Given the description of an element on the screen output the (x, y) to click on. 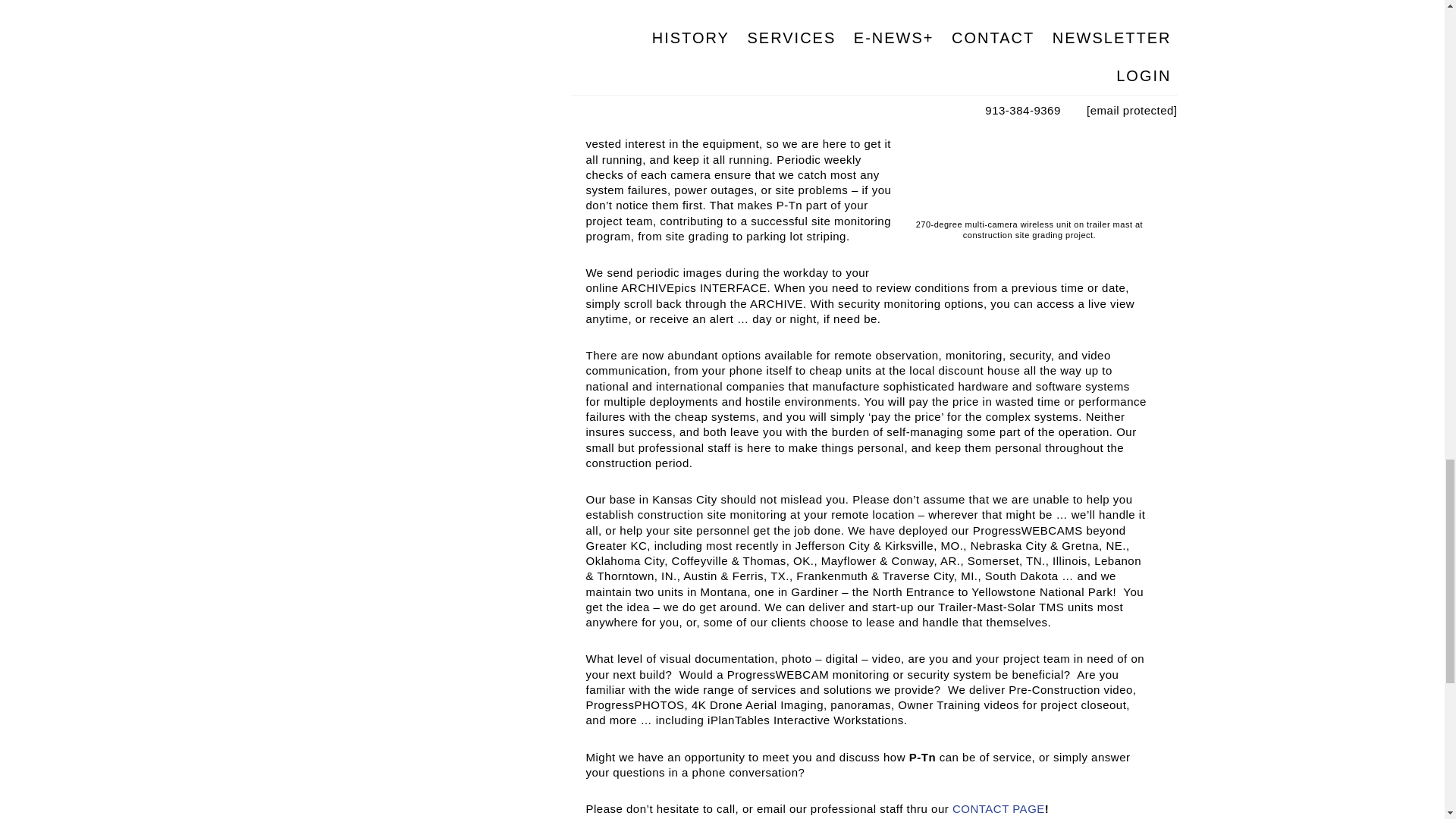
CONTACT PAGE (998, 808)
